Given the description of an element on the screen output the (x, y) to click on. 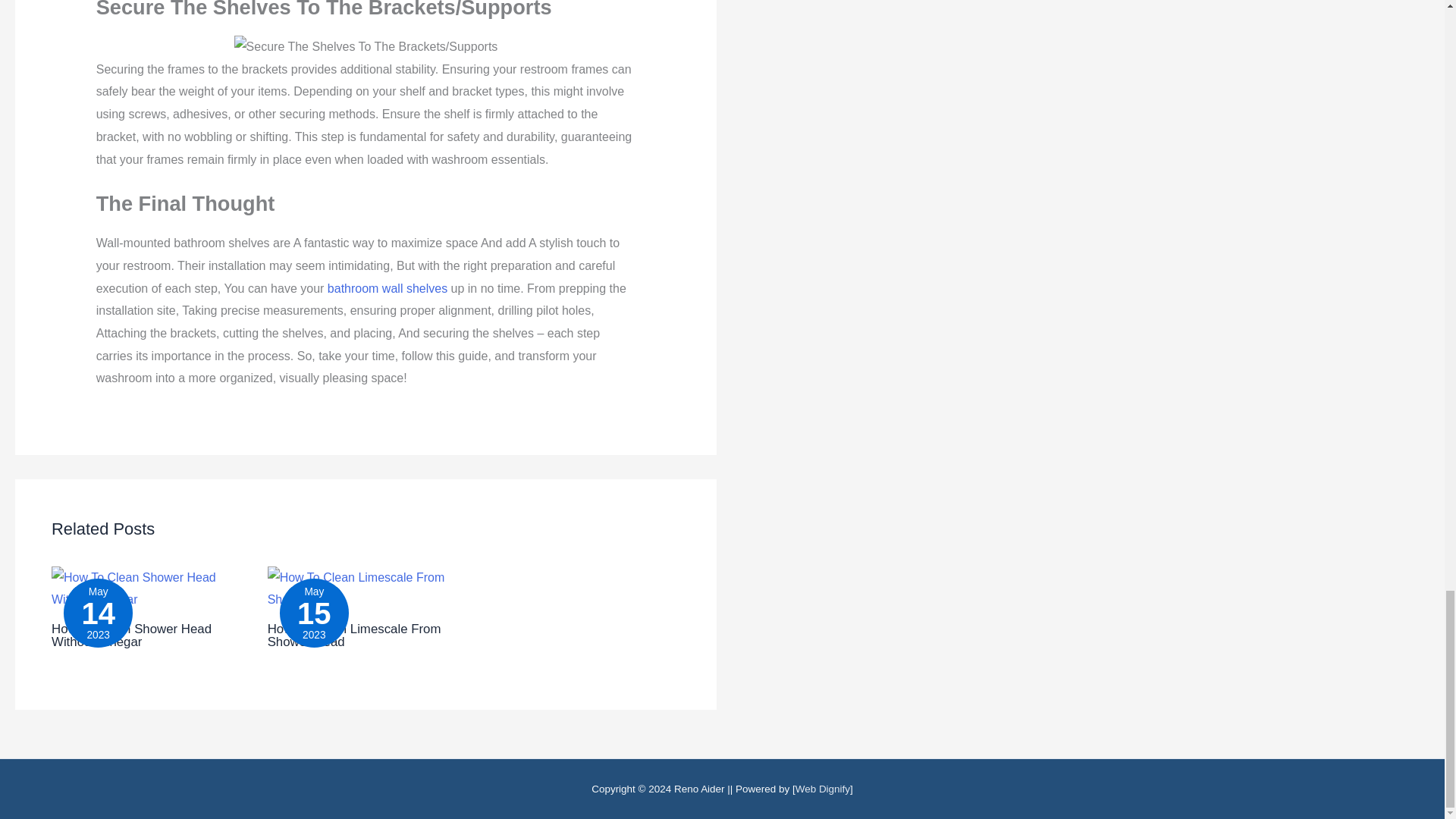
How To Clean Shower Head Without Vinegar (130, 635)
Web Dignify (822, 788)
bathroom wall shelves (386, 287)
How To Clean Limescale From Shower Head (354, 635)
